Given the description of an element on the screen output the (x, y) to click on. 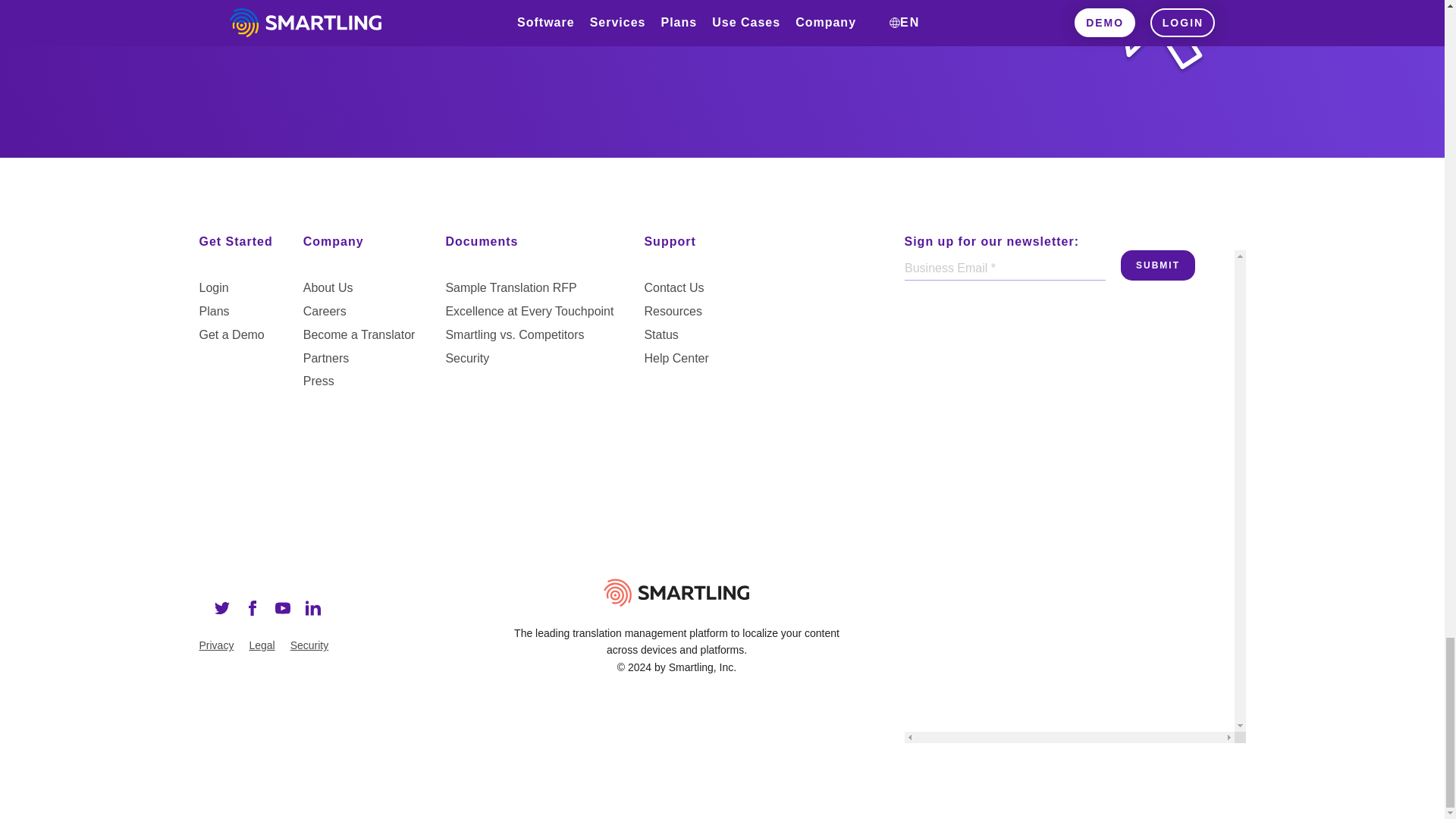
Pardot Form (1068, 306)
